Given the description of an element on the screen output the (x, y) to click on. 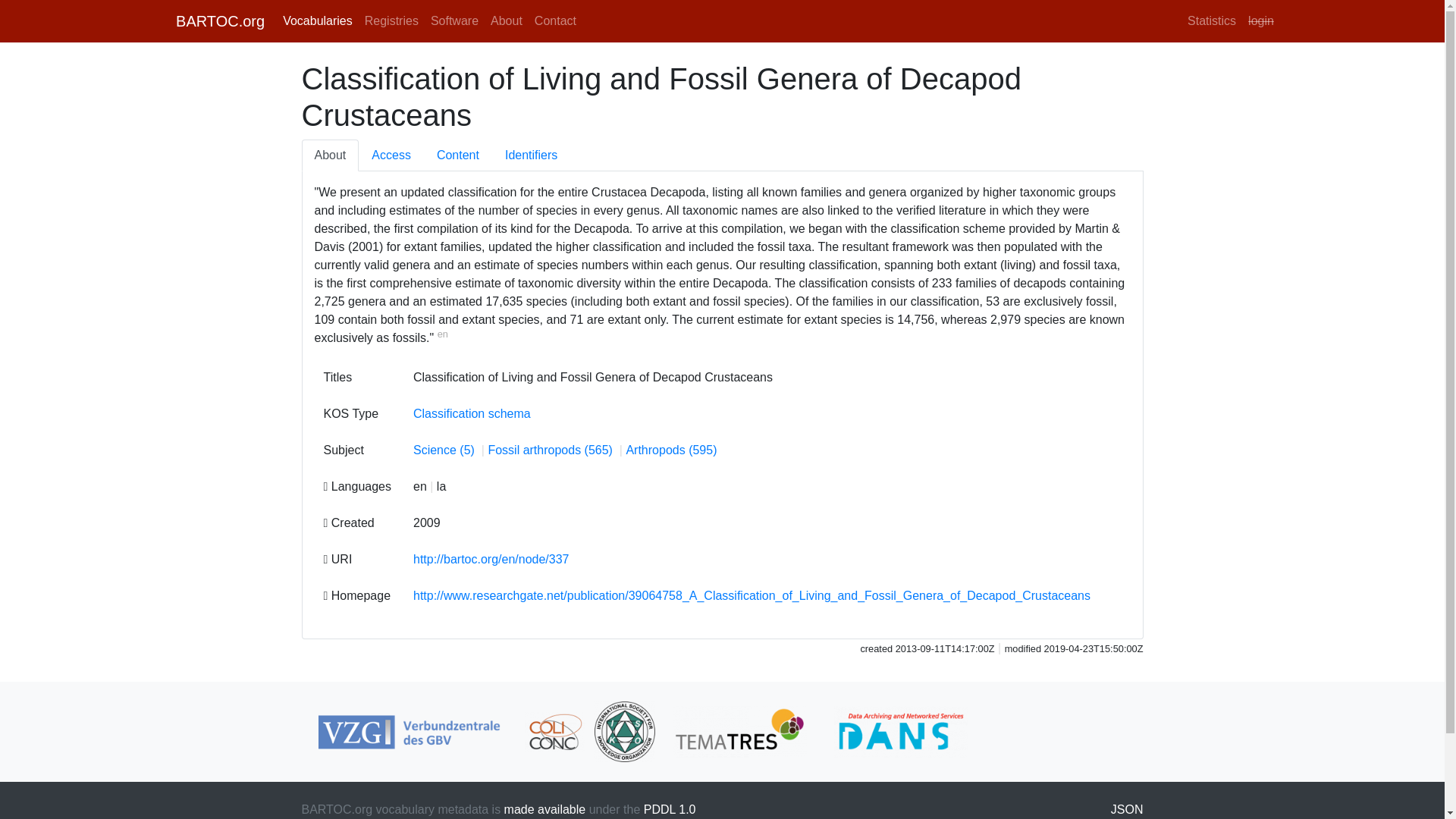
Classification schema (472, 413)
Software (454, 20)
Contact (555, 20)
made available (544, 809)
Statistics (1210, 20)
About (506, 20)
About (330, 155)
Content (457, 155)
PDDL 1.0 (669, 809)
Access (390, 155)
